Given the description of an element on the screen output the (x, y) to click on. 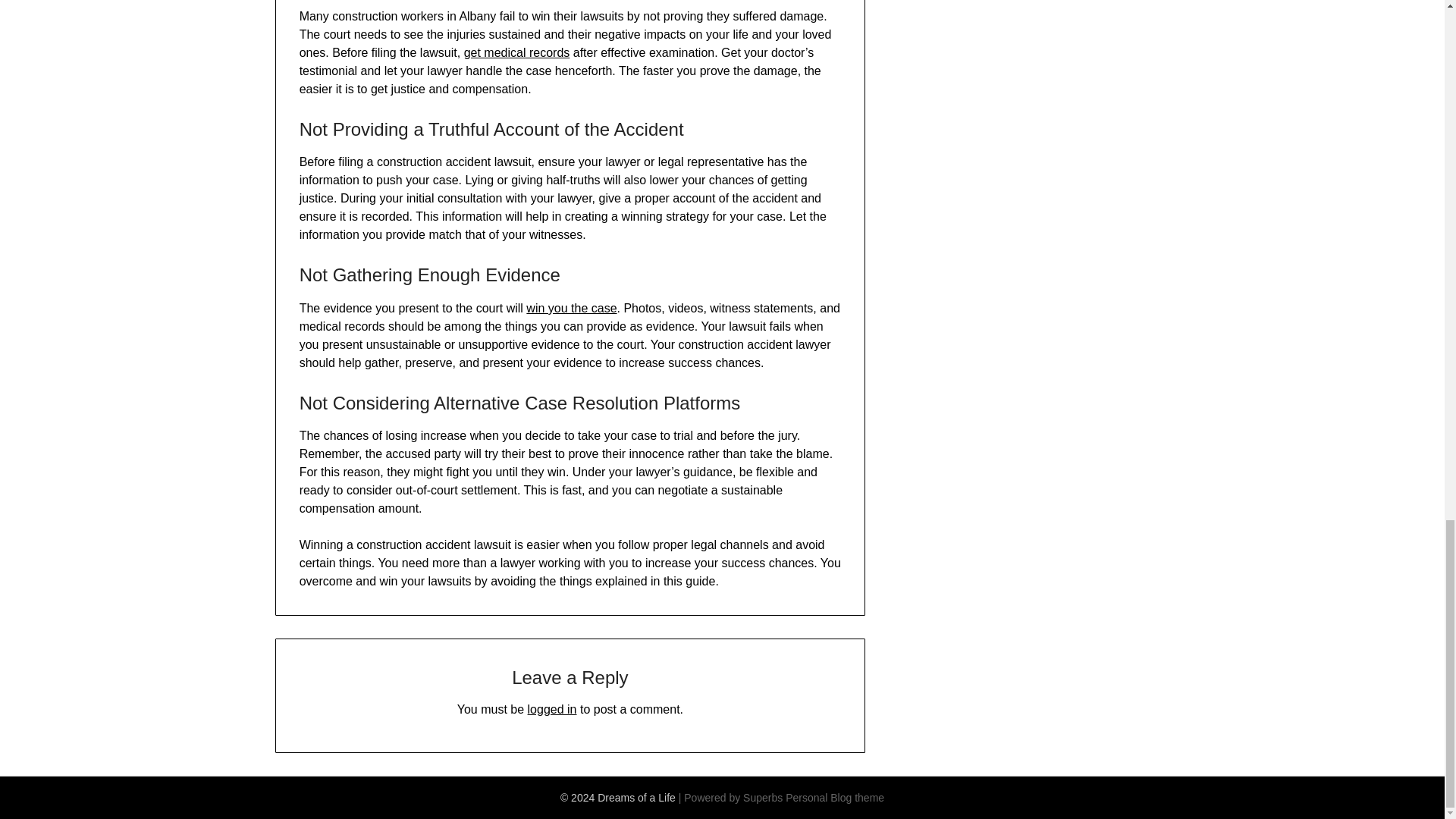
logged in (551, 708)
Personal Blog theme (834, 797)
win you the case (570, 308)
get medical records (517, 51)
